Given the description of an element on the screen output the (x, y) to click on. 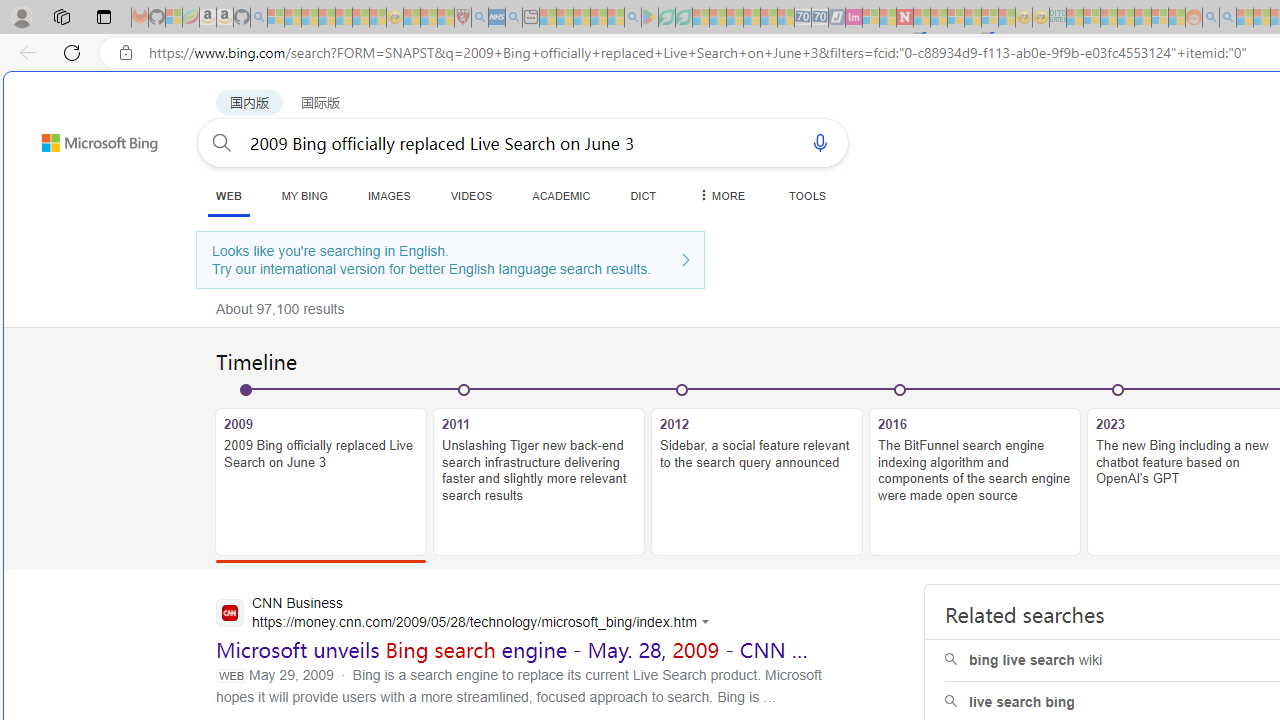
WEB (228, 196)
MY BING (303, 195)
Cheap Hotels - Save70.com - Sleeping (819, 17)
DITOGAMES AG Imprint - Sleeping (1057, 17)
ACADEMIC (561, 195)
Pets - MSN - Sleeping (598, 17)
